Given the description of an element on the screen output the (x, y) to click on. 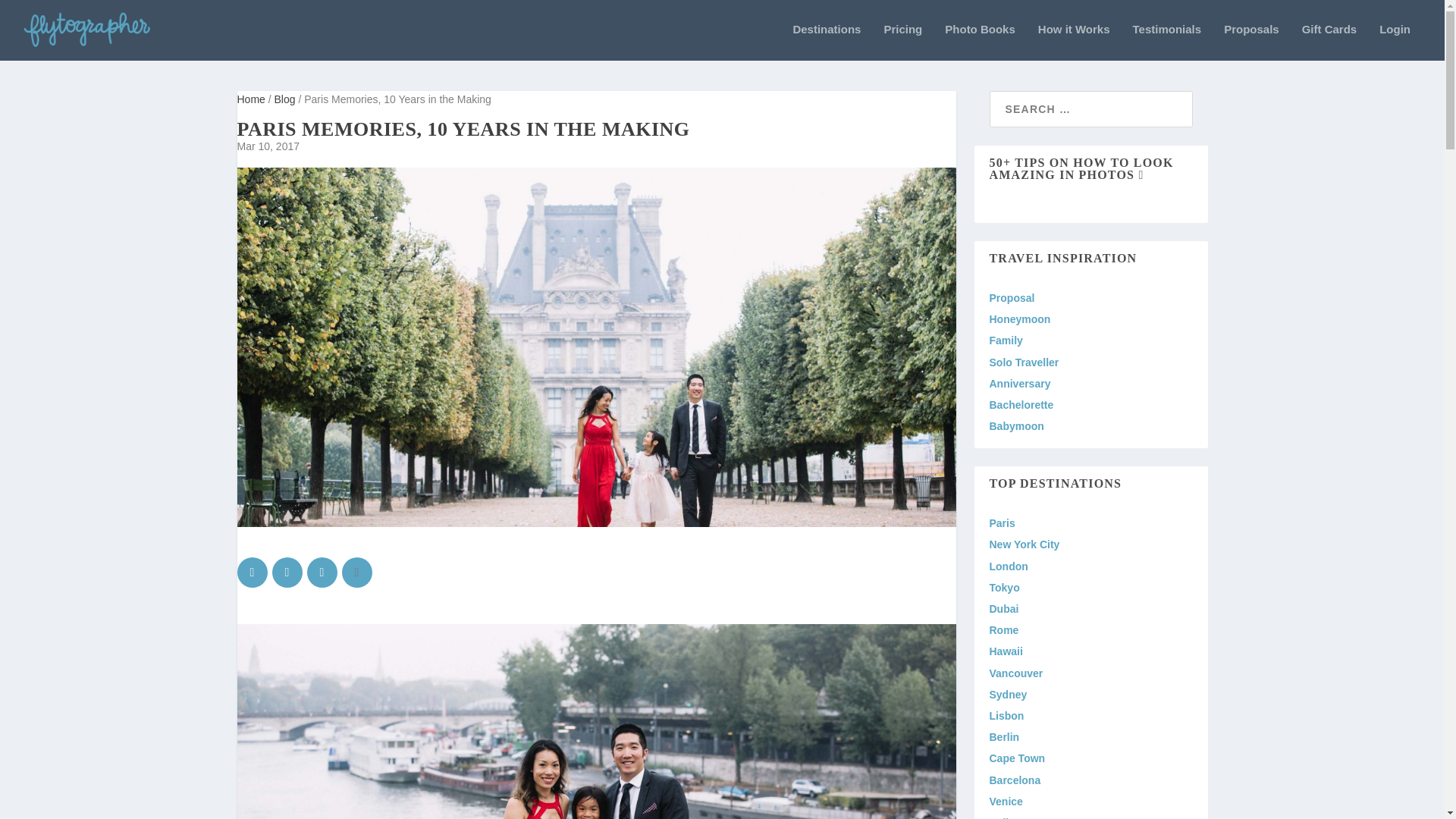
Pricing (902, 41)
Testimonials (1167, 41)
Photo Books (979, 41)
Proposals (1251, 41)
How it Works (1073, 41)
Gift Cards (1328, 41)
Destinations (826, 41)
Home (251, 99)
Blog (286, 99)
